Given the description of an element on the screen output the (x, y) to click on. 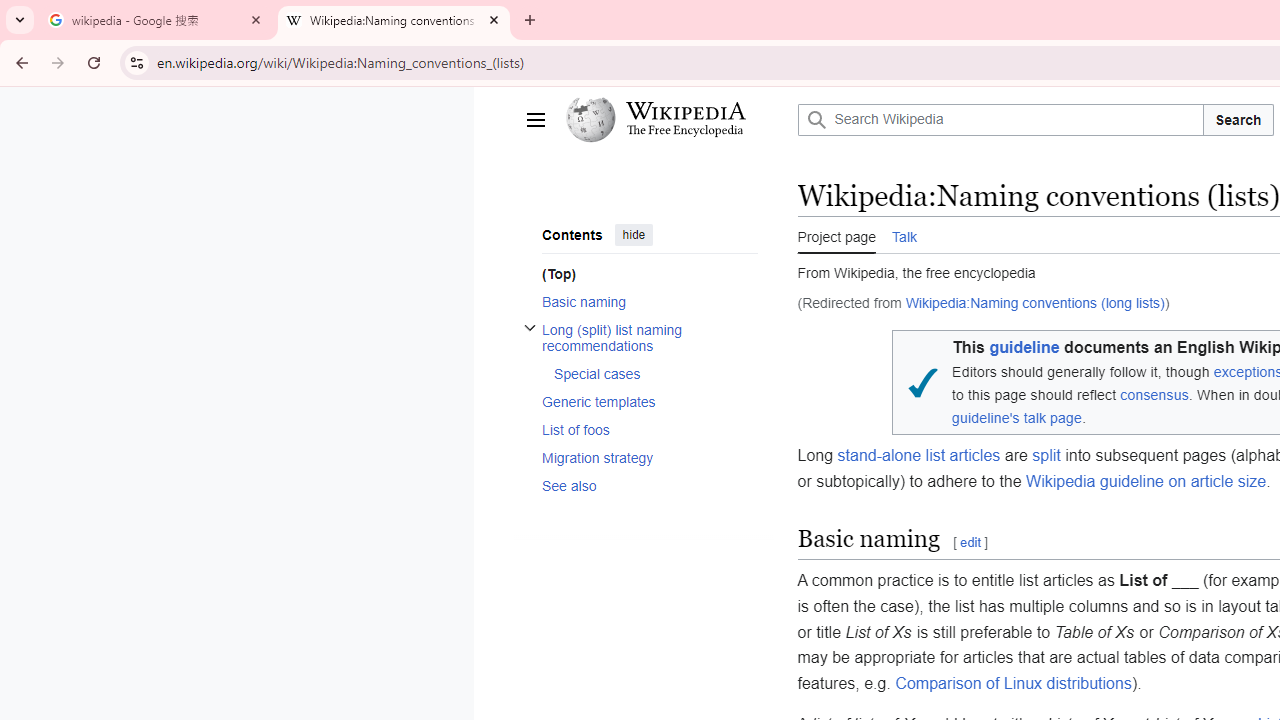
consensus (1155, 395)
Talk (904, 235)
AutomationID: toc-mw-content-text (642, 273)
